Given the description of an element on the screen output the (x, y) to click on. 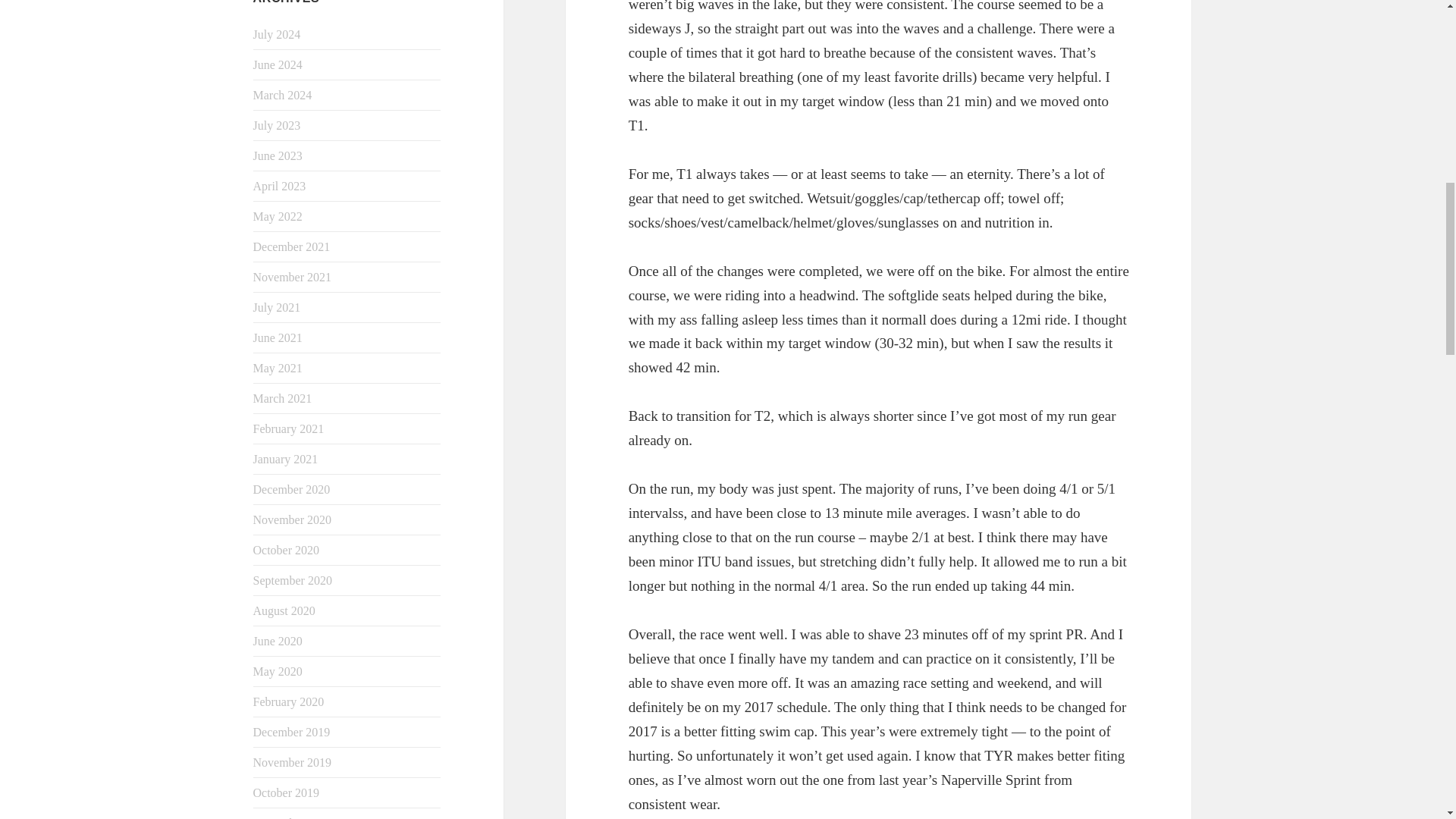
July 2023 (277, 124)
January 2021 (285, 459)
May 2022 (277, 215)
November 2019 (292, 762)
June 2023 (277, 155)
June 2020 (277, 640)
July 2024 (277, 33)
May 2020 (277, 671)
February 2021 (288, 428)
June 2021 (277, 337)
